Given the description of an element on the screen output the (x, y) to click on. 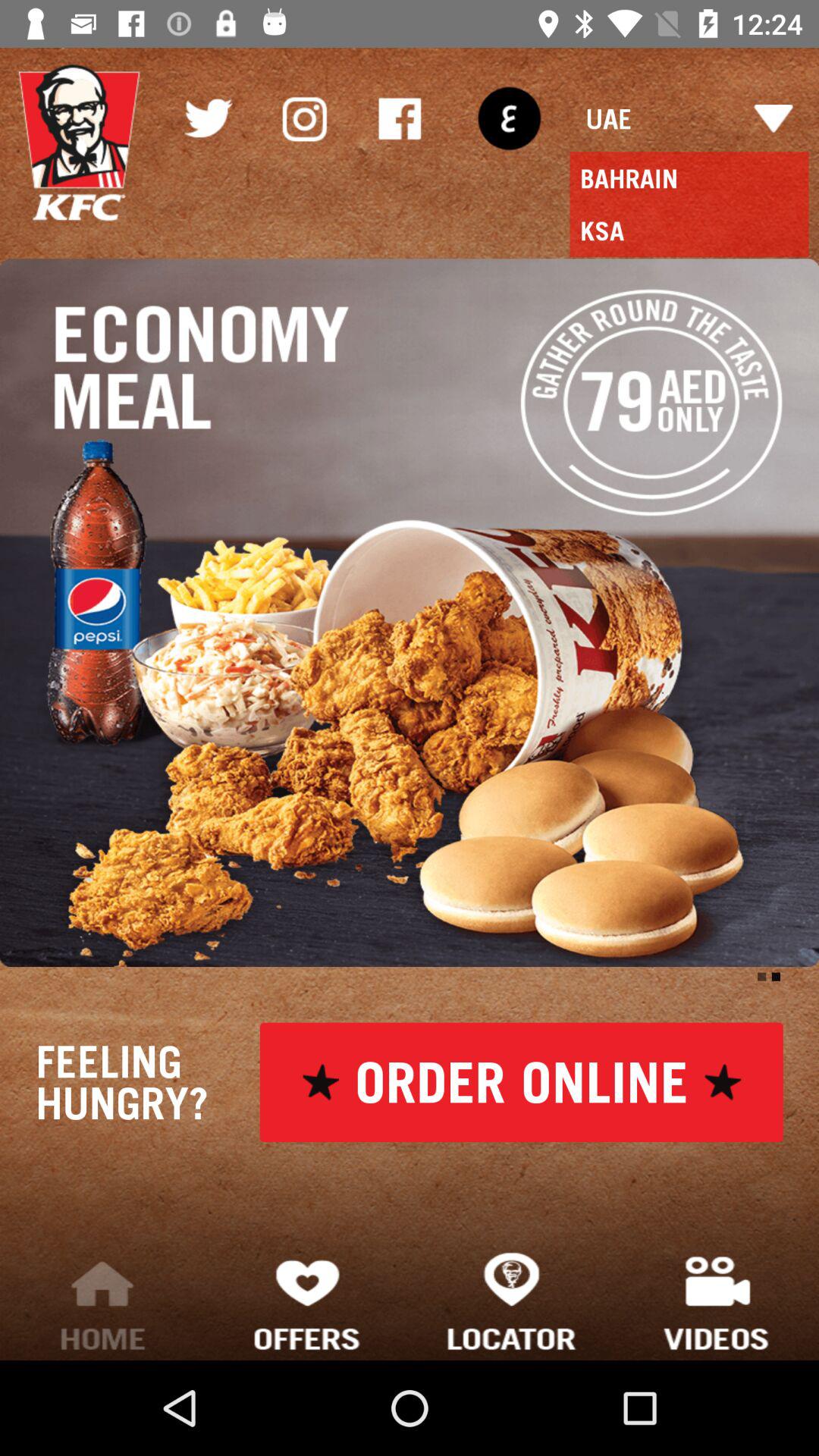
press item below hungry? icon (306, 1300)
